Given the description of an element on the screen output the (x, y) to click on. 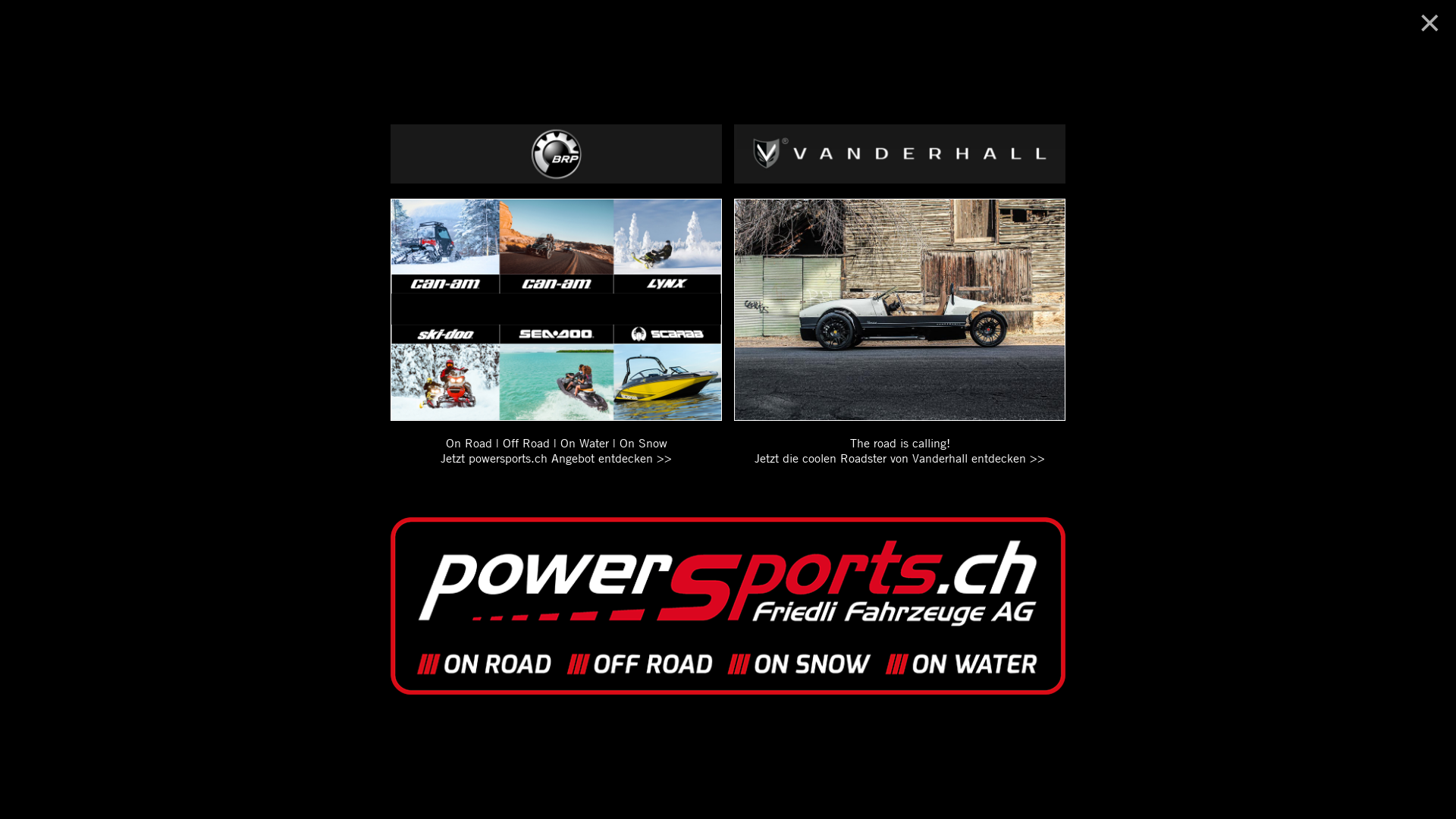
Folge uns auf Instagram Element type: hover (748, 482)
OFF ROAD Element type: text (771, 26)
Home Element type: text (535, 26)
MIETEN Element type: text (658, 26)
ON ROAD Element type: text (711, 26)
News & Events Element type: text (594, 26)
Kontakt Element type: text (1151, 26)
Technischer Kundendienstberater 100% (m/w) Element type: text (418, 681)
ON WATER Element type: text (840, 26)
deutsch Element type: text (1103, 75)
Folge uns auf Facebook! Element type: hover (707, 482)
ON SNOW Element type: text (913, 26)
